Given the description of an element on the screen output the (x, y) to click on. 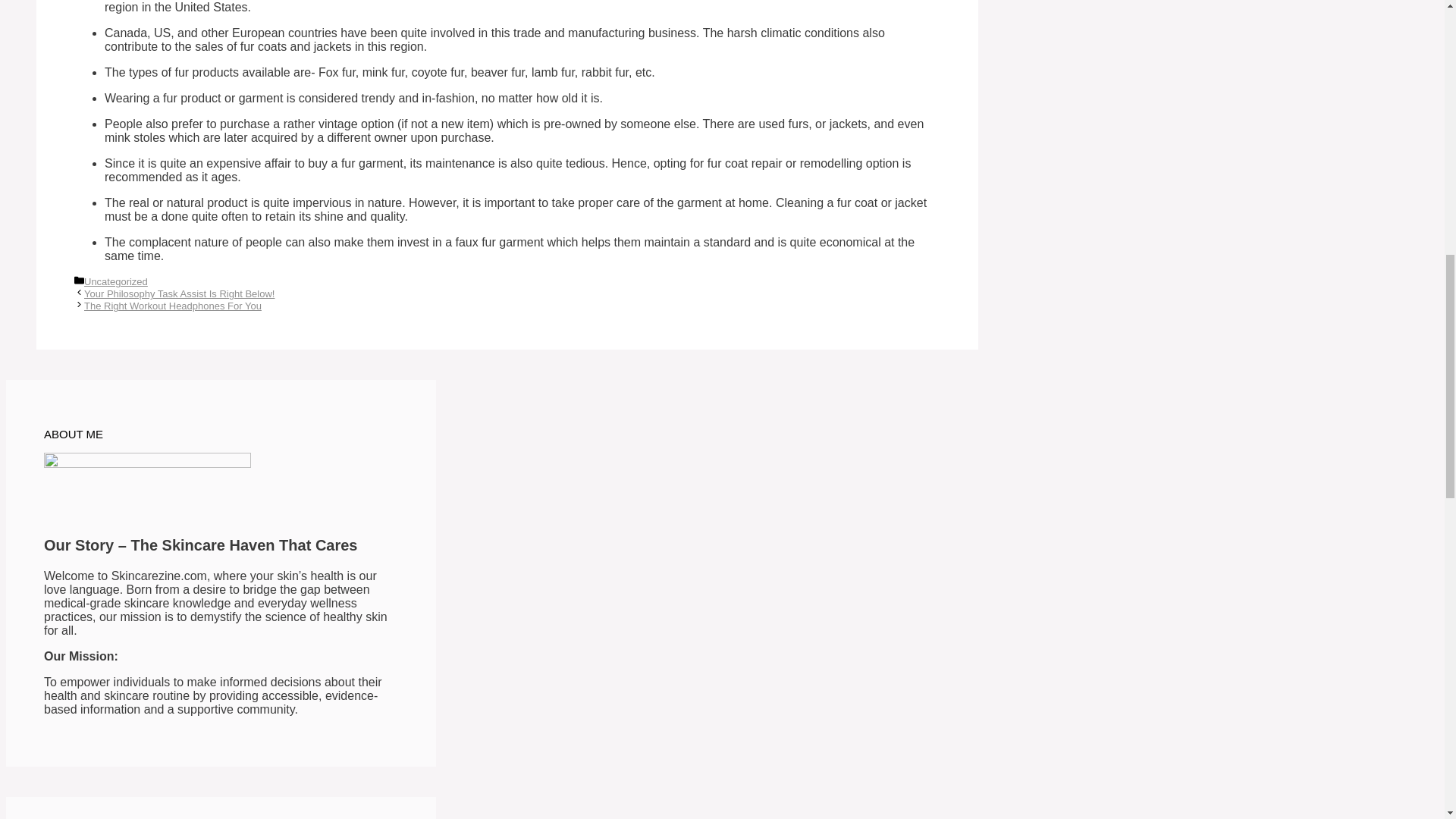
The Right Workout Headphones For You (173, 306)
Uncategorized (116, 281)
Your Philosophy Task Assist Is Right Below! (179, 293)
